Given the description of an element on the screen output the (x, y) to click on. 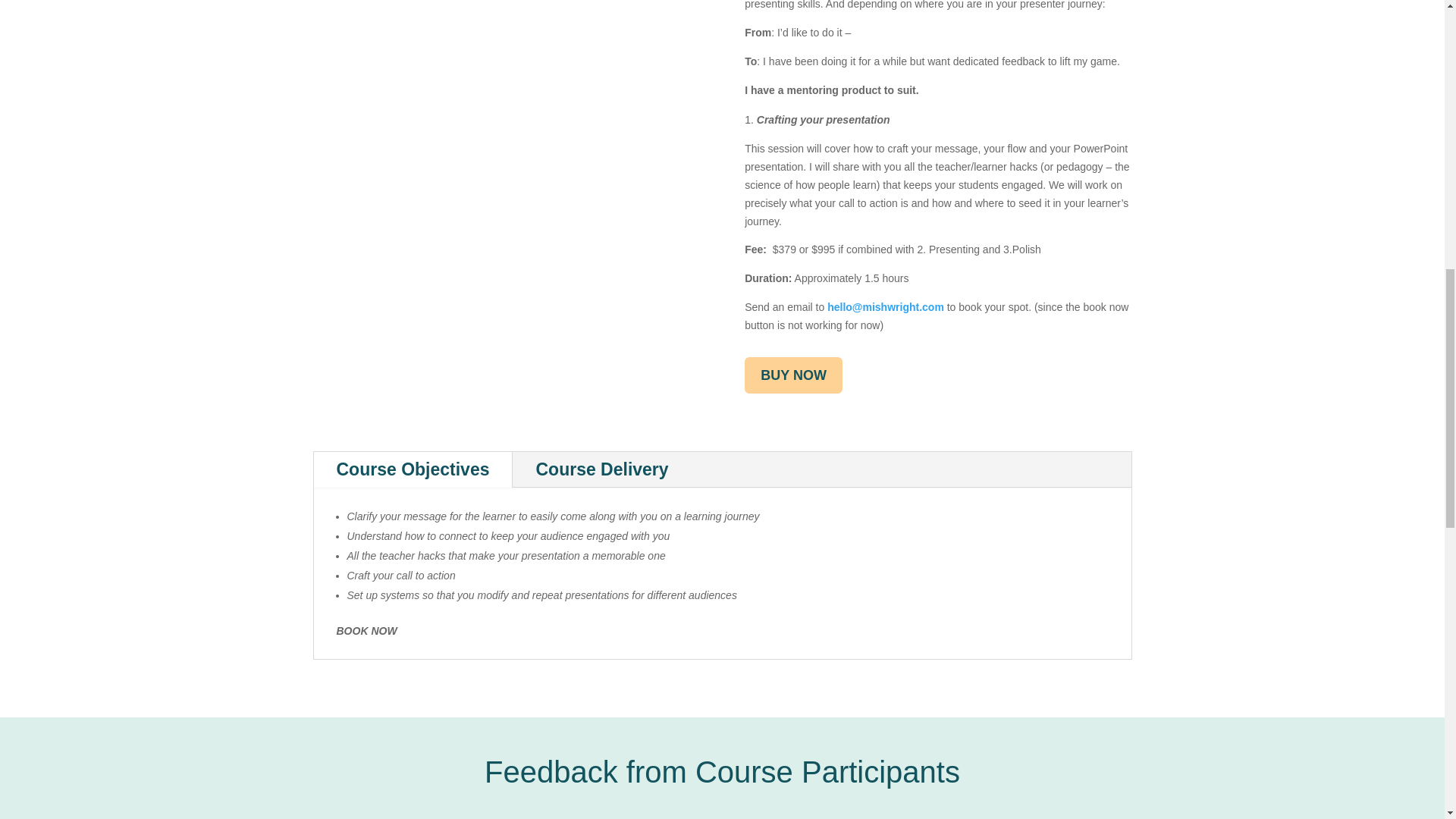
BUY NOW (793, 375)
Course Objectives (413, 469)
